Given the description of an element on the screen output the (x, y) to click on. 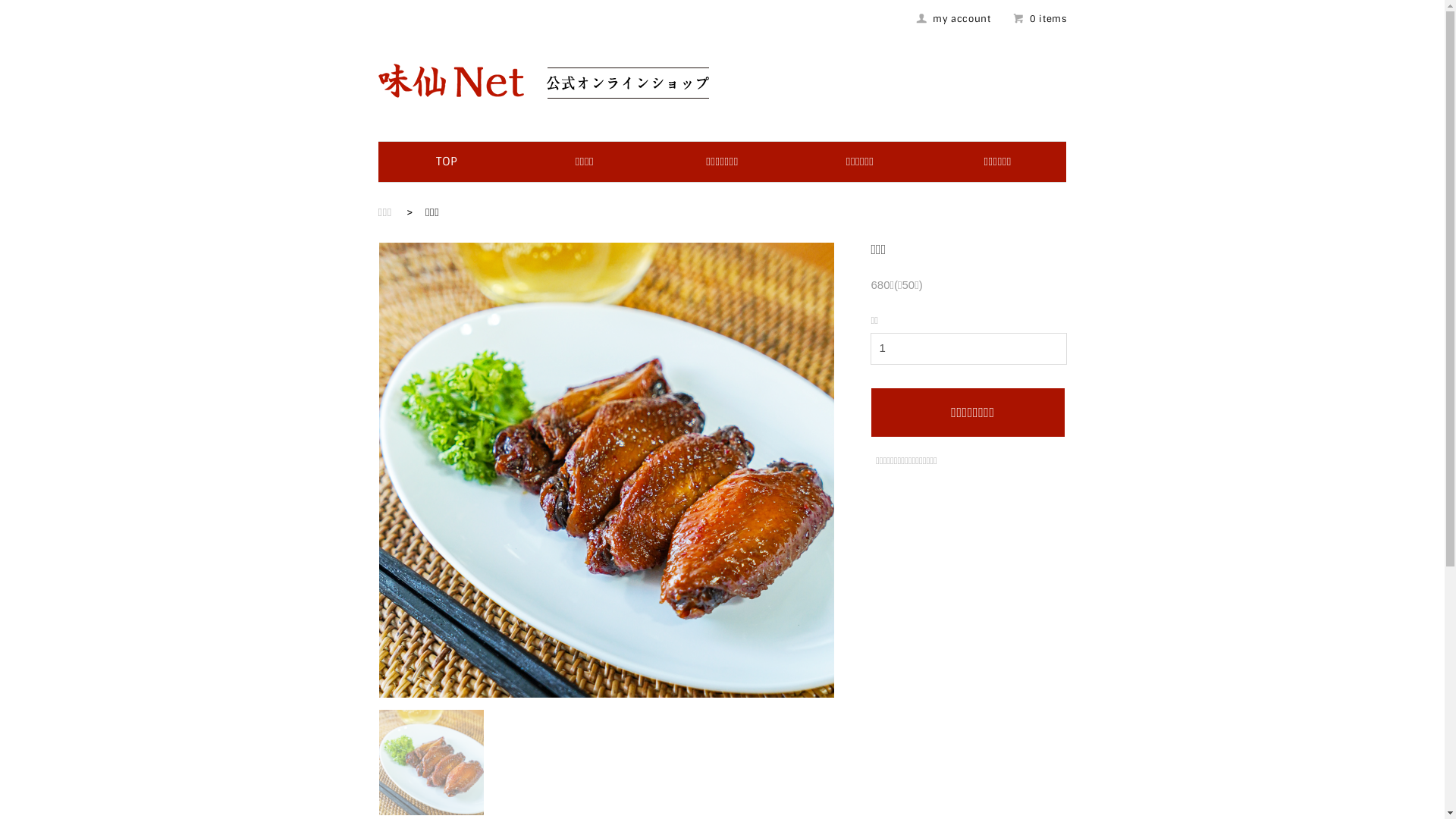
TOP Element type: text (447, 161)
